Given the description of an element on the screen output the (x, y) to click on. 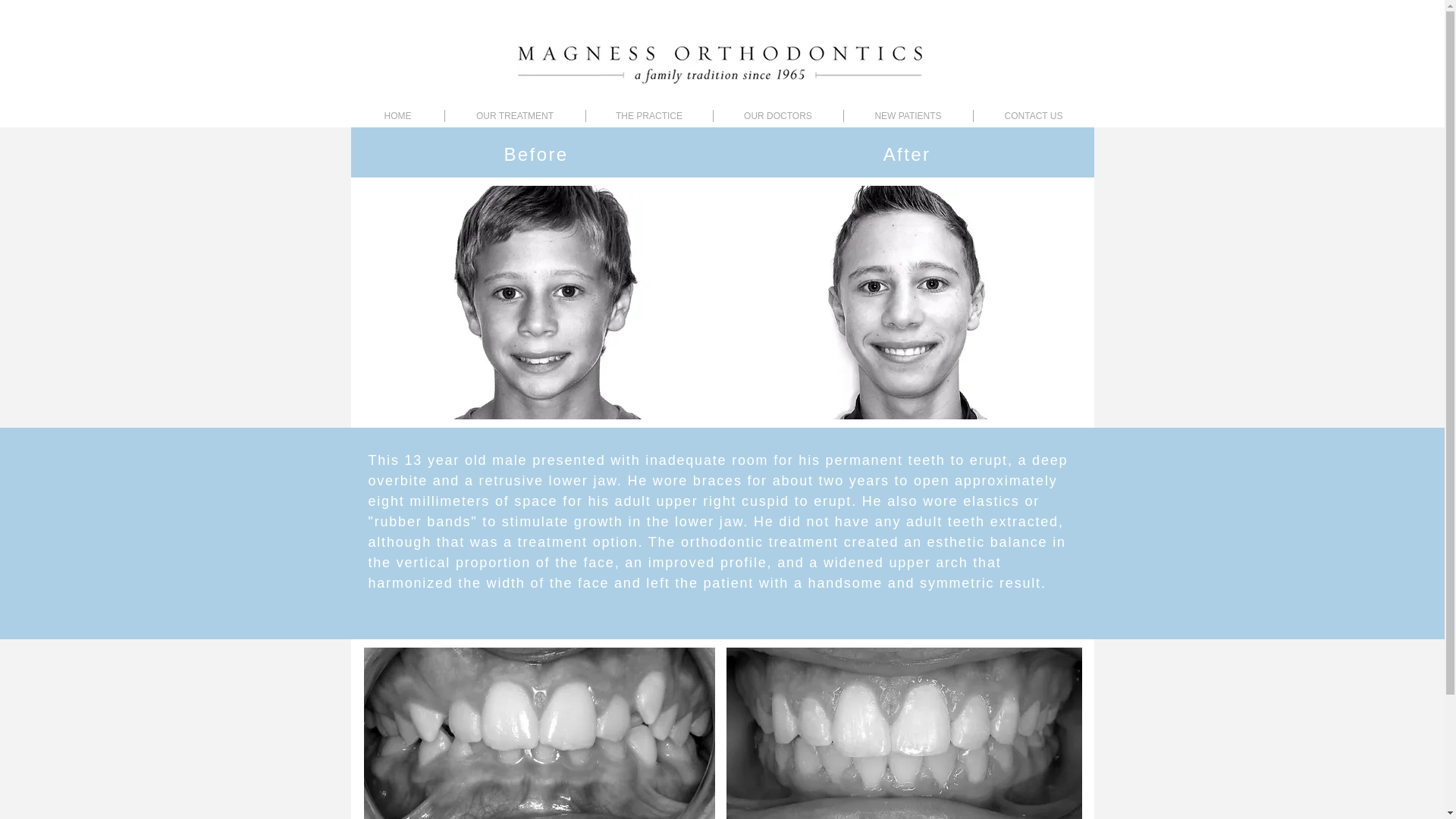
Connor Sloan Initial CenterBefore.jpg (539, 733)
THE PRACTICE (648, 115)
HOME (398, 115)
CONTACT US (1034, 115)
NEW PATIENTS (907, 115)
OUR TREATMENT (514, 115)
Connor Sloan Final CenterAfter.jpg (903, 733)
Connor Sloan Final Frontal SmileAfter.jpg (903, 302)
